Given the description of an element on the screen output the (x, y) to click on. 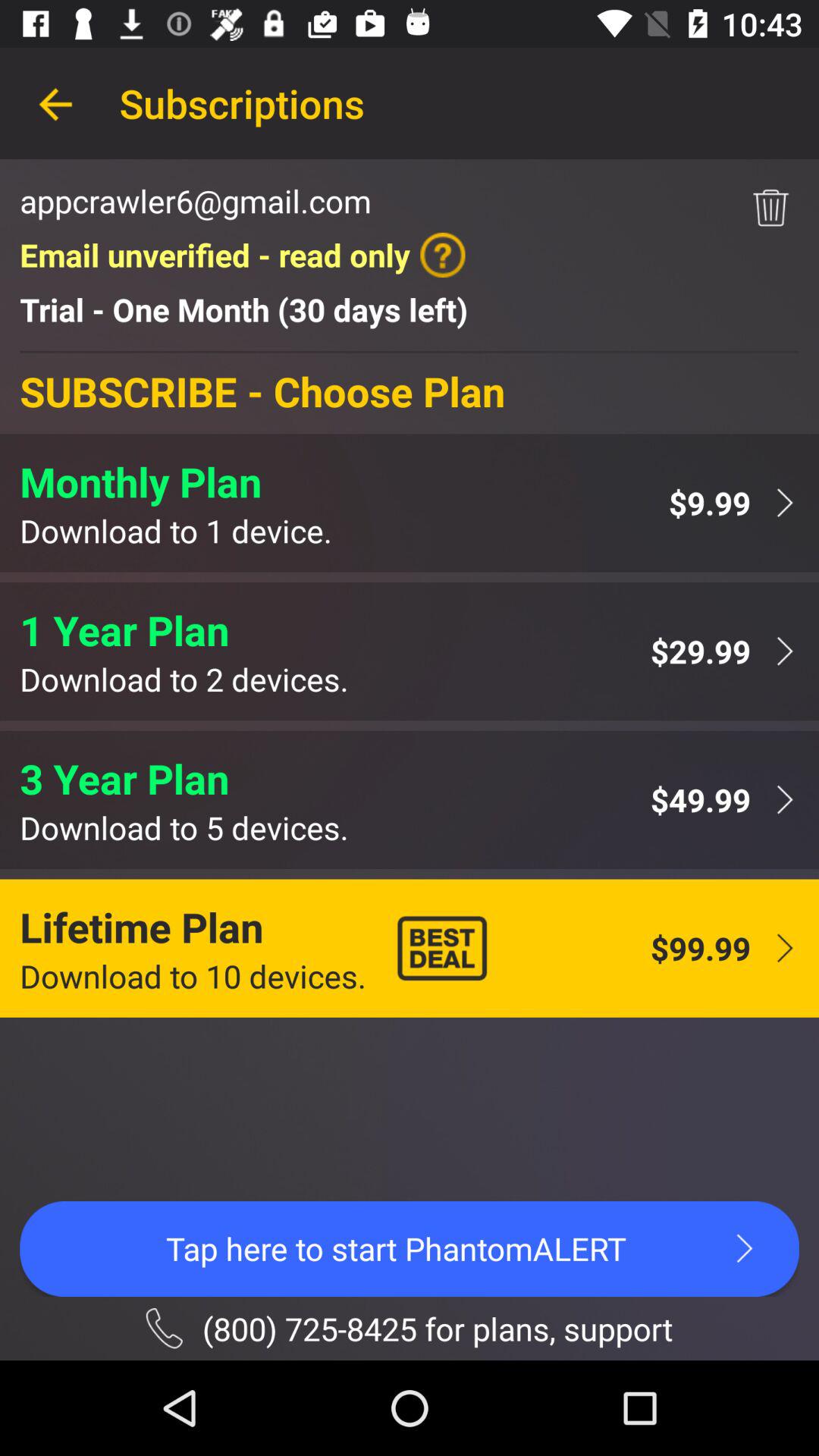
click app above the 800 725 8425 app (409, 1248)
